Given the description of an element on the screen output the (x, y) to click on. 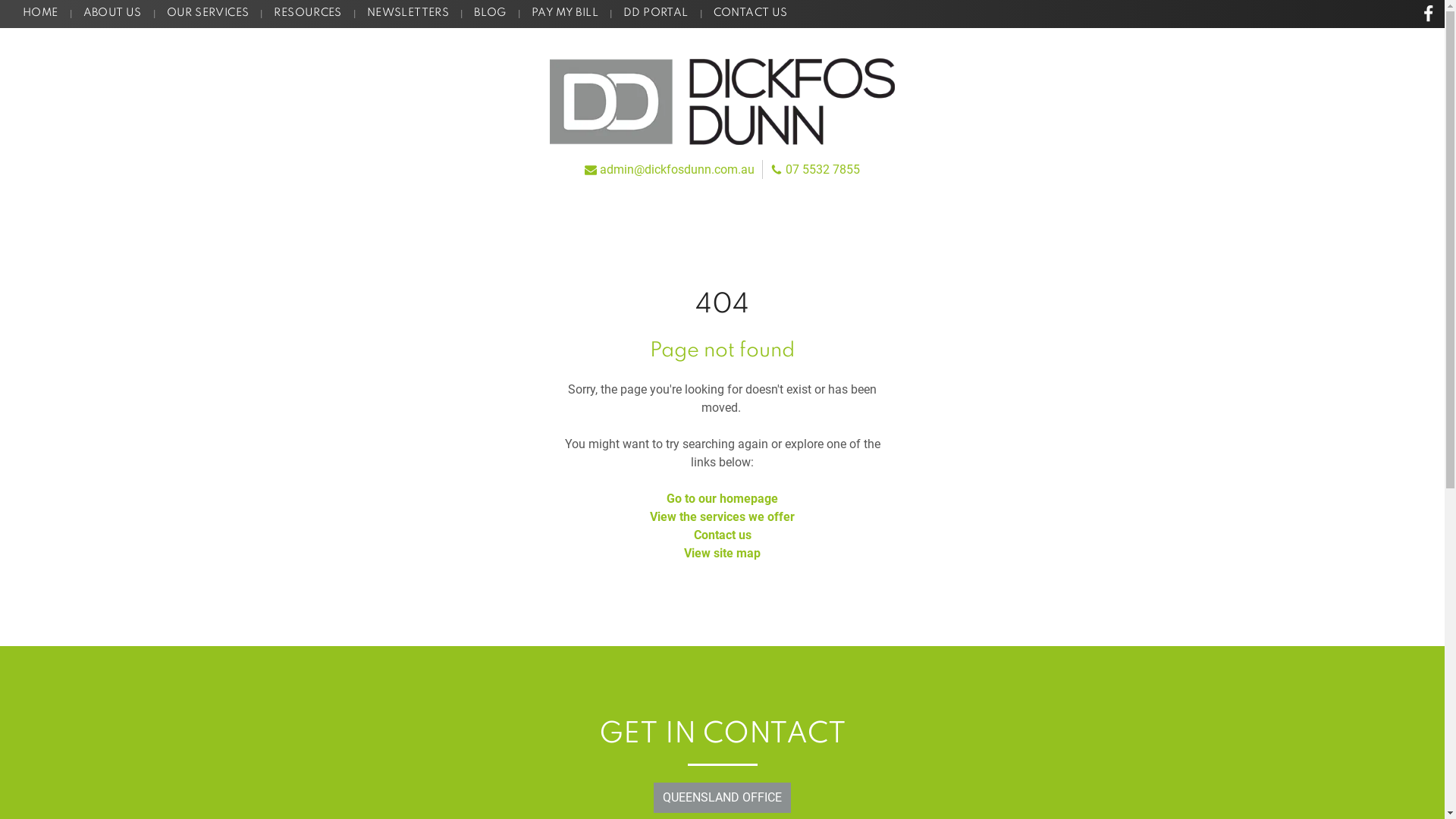
DD PORTAL Element type: text (655, 13)
ABOUT US Element type: text (112, 13)
admin@dickfosdunn.com.au Element type: text (669, 168)
CONTACT US Element type: text (750, 13)
RESOURCES Element type: text (307, 13)
BLOG Element type: text (489, 13)
NEWSLETTERS Element type: text (407, 13)
View the services we offer Element type: text (721, 516)
OUR SERVICES Element type: text (207, 13)
QUEENSLAND OFFICE Element type: text (721, 797)
07 5532 7855 Element type: text (814, 168)
HOME Element type: text (40, 13)
Contact us Element type: text (721, 534)
Go to our homepage Element type: text (722, 498)
PAY MY BILL Element type: text (564, 13)
View site map Element type: text (722, 553)
